Given the description of an element on the screen output the (x, y) to click on. 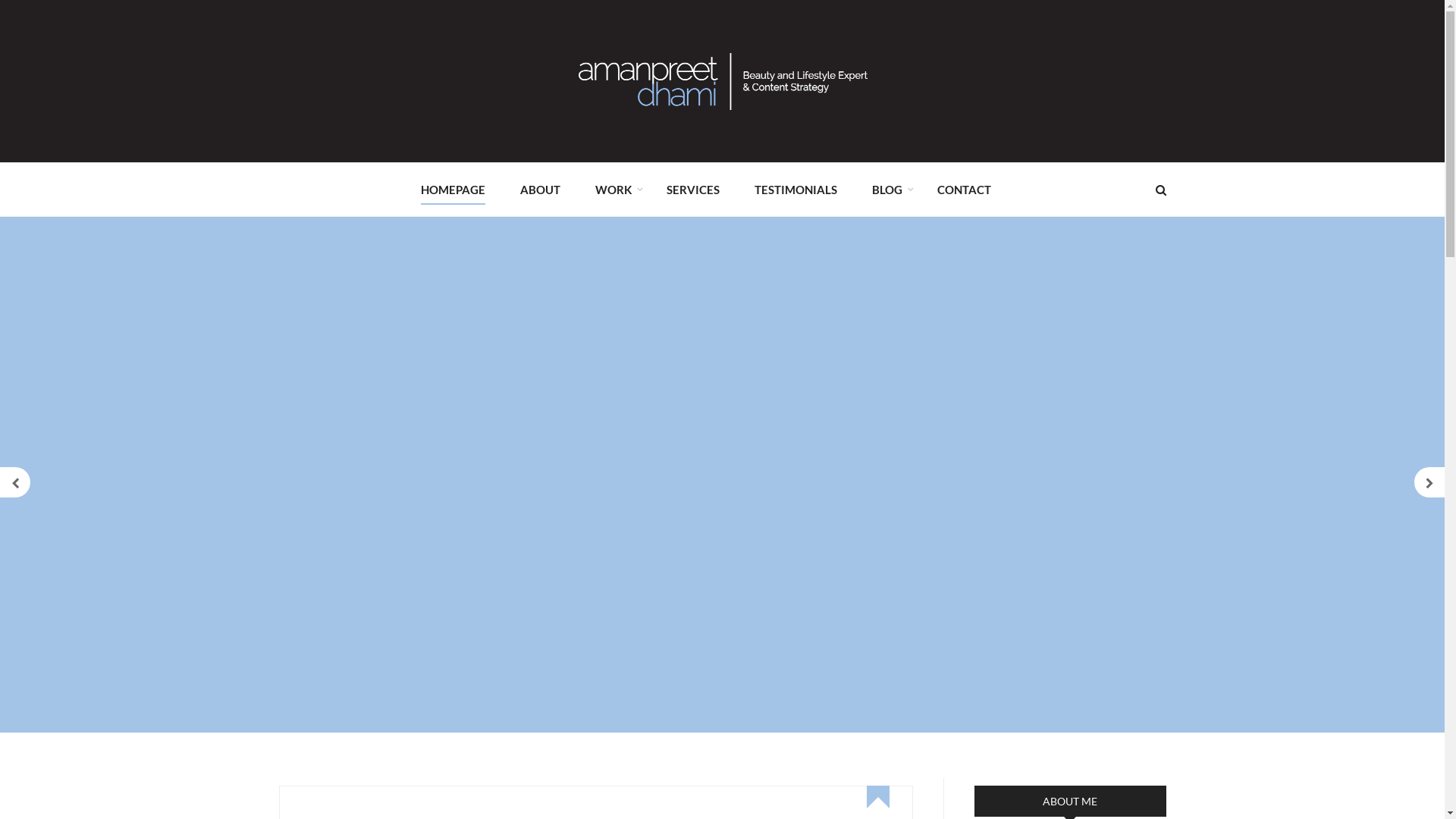
TESTIMONIALS Element type: text (794, 188)
WORK Element type: text (612, 188)
ABOUT Element type: text (540, 188)
CONTACT Element type: text (964, 188)
BLOG Element type: text (887, 188)
SERVICES Element type: text (691, 188)
HOMEPAGE Element type: text (452, 188)
